Given the description of an element on the screen output the (x, y) to click on. 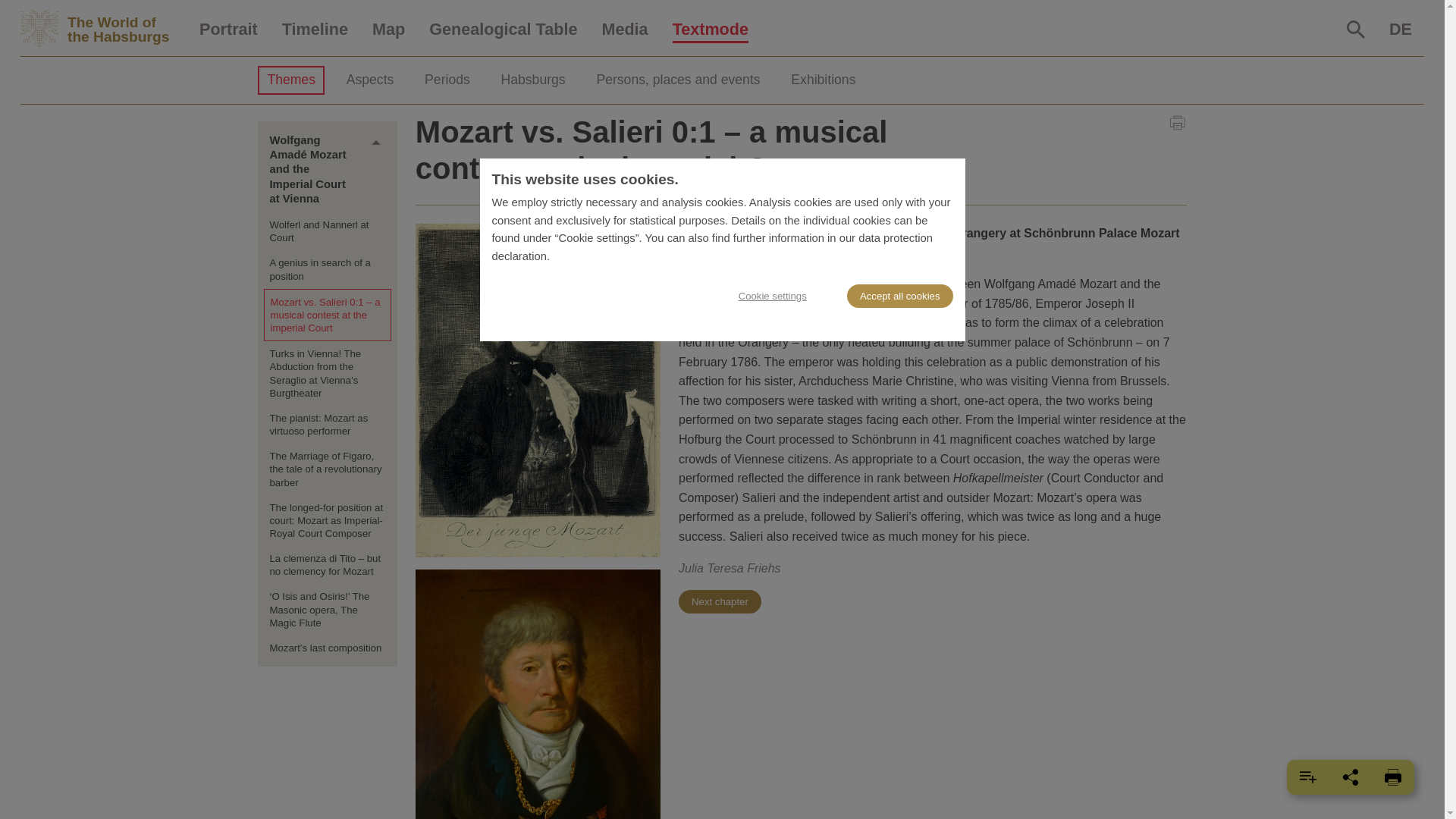
Portrait (228, 29)
search (1355, 29)
Textmode (710, 29)
Die Welt der Habsburger Home (103, 29)
Media (624, 29)
Map (387, 29)
DE (1400, 29)
Timeline (314, 29)
Genealogical Table (502, 29)
search (1356, 29)
